Given the description of an element on the screen output the (x, y) to click on. 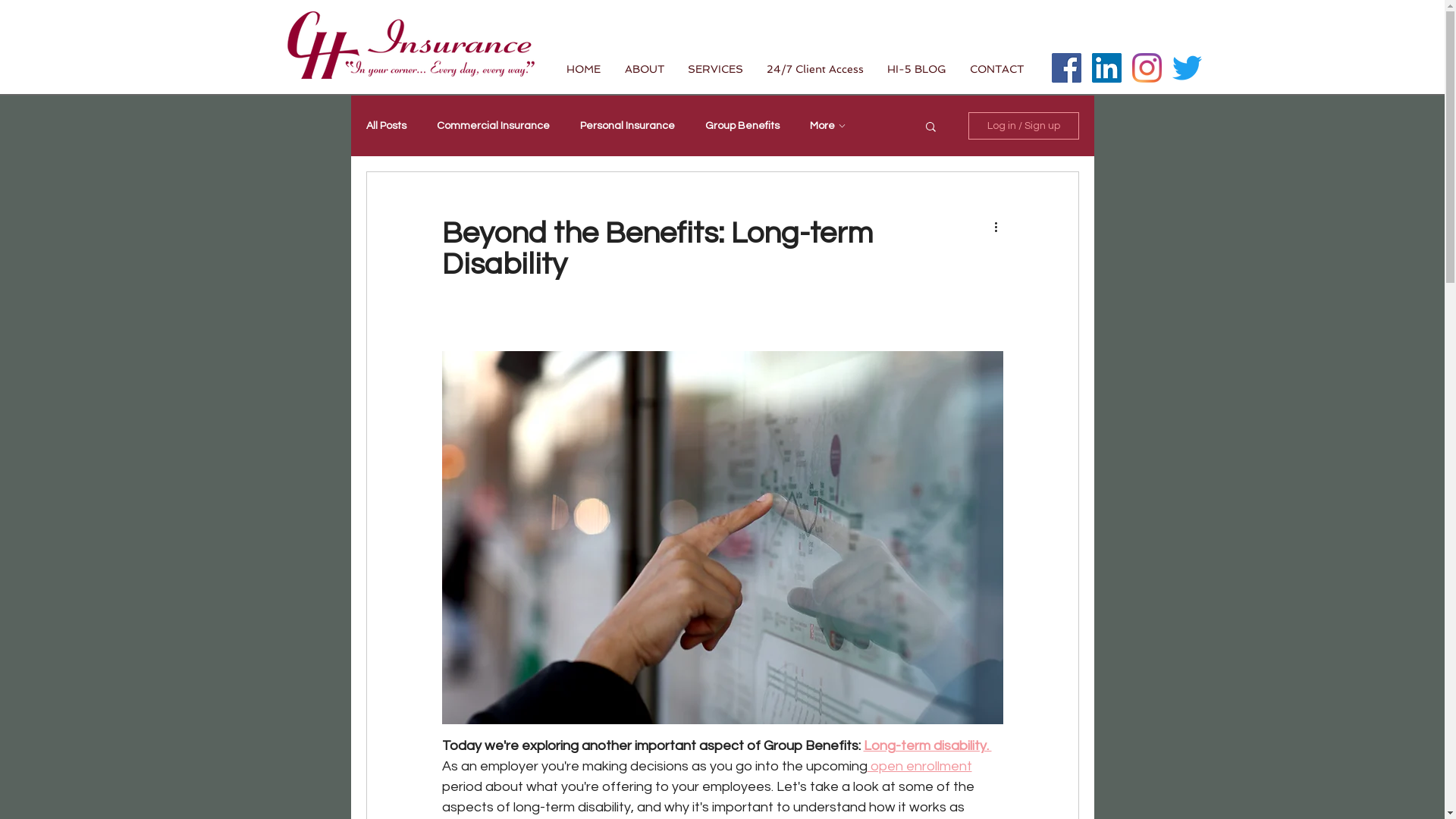
Group Benefits Element type: text (742, 125)
24/7 Client Access Element type: text (815, 68)
HOME Element type: text (584, 68)
CONTACT Element type: text (996, 68)
Log in / Sign up Element type: text (1022, 125)
Personal Insurance Element type: text (626, 125)
ABOUT Element type: text (643, 68)
 open enrollment Element type: text (919, 766)
All Posts Element type: text (385, 125)
Long-term disability.  Element type: text (926, 745)
Commercial Insurance Element type: text (492, 125)
HI-5 BLOG Element type: text (916, 68)
SERVICES Element type: text (715, 68)
